Given the description of an element on the screen output the (x, y) to click on. 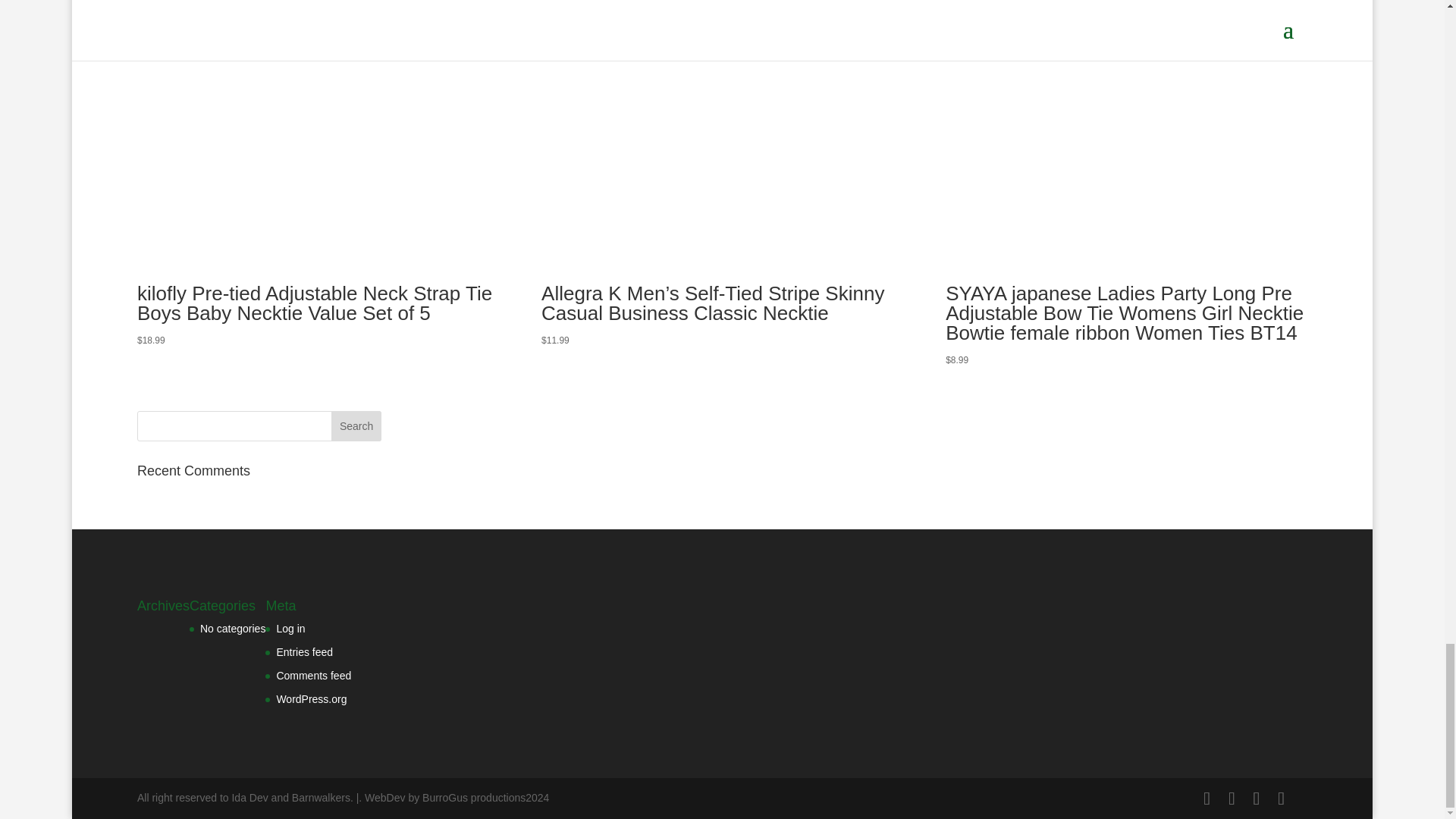
WordPress.org (311, 698)
Log in (290, 628)
Comments feed (313, 675)
Search (356, 426)
Entries feed (304, 652)
Search (356, 426)
